Given the description of an element on the screen output the (x, y) to click on. 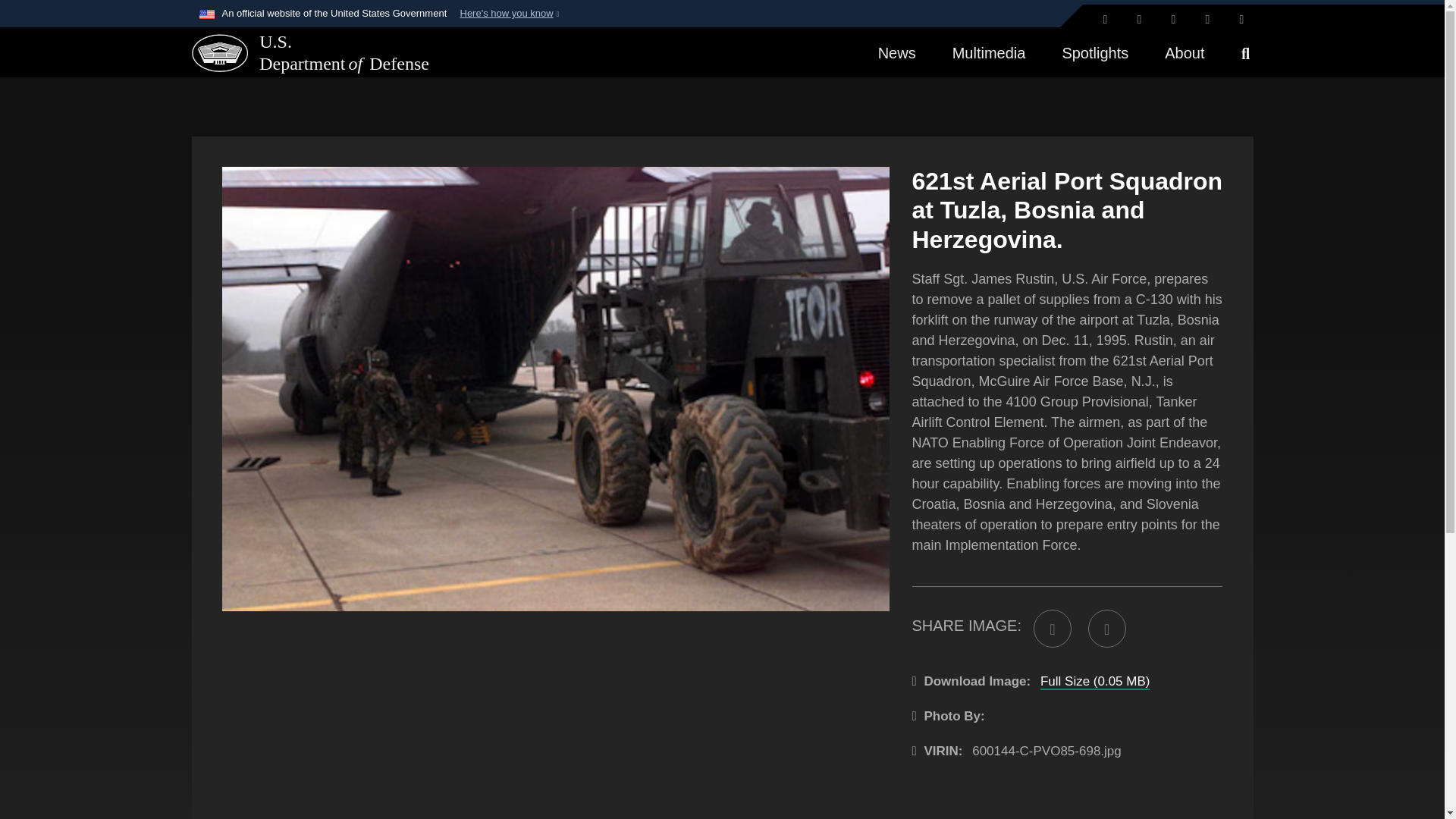
U.S. Department of Defense (218, 52)
LinkedIn (1208, 19)
Multimedia (988, 51)
Instagram (1173, 19)
YouTube (1241, 19)
News (897, 51)
Facebook (1139, 19)
X (1104, 19)
U.S. DepartmentofDefense (298, 53)
Spotlights (1095, 51)
